Given the description of an element on the screen output the (x, y) to click on. 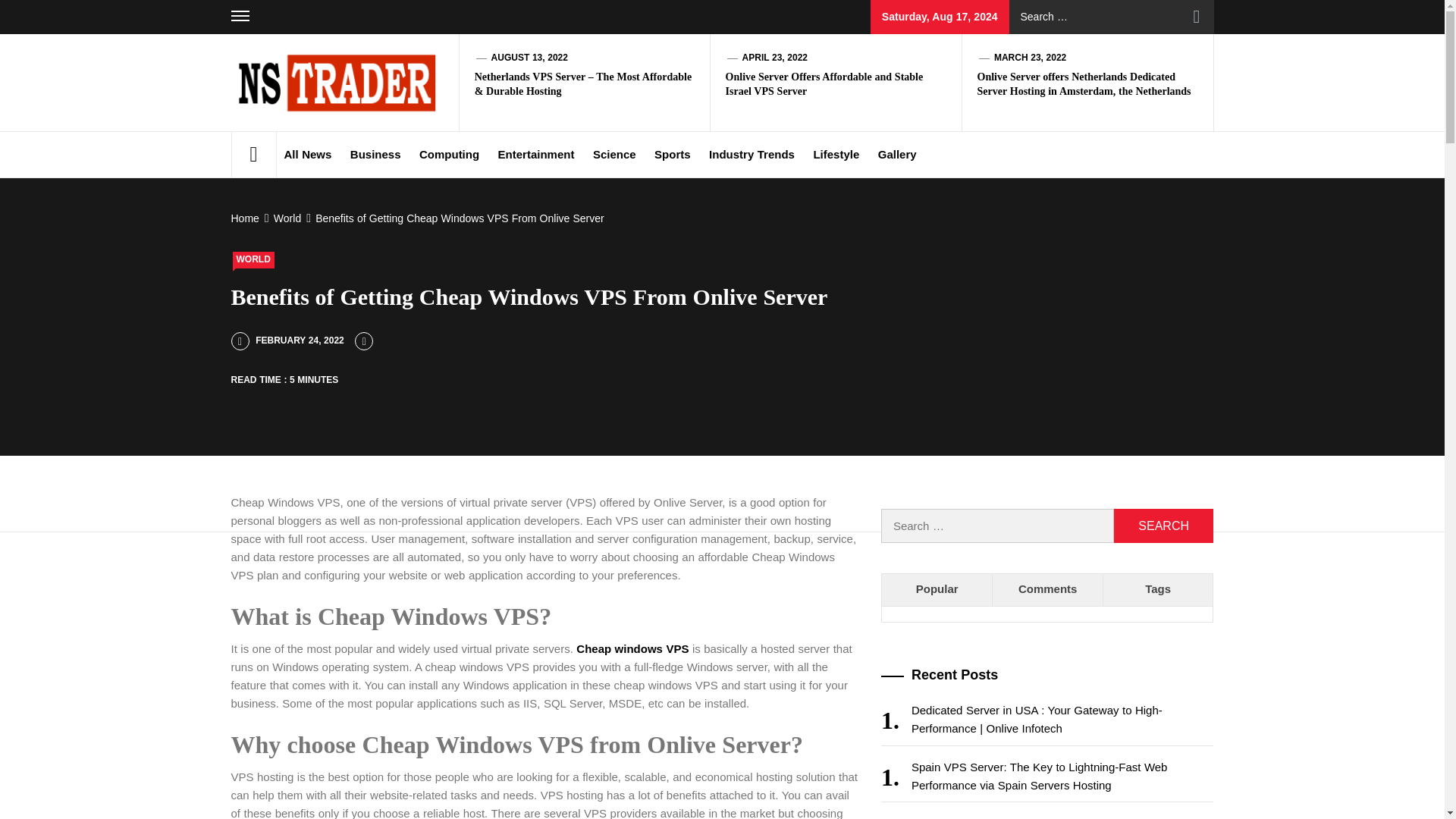
NS Traders (499, 86)
Search (1163, 525)
AUGUST 13, 2022 (529, 57)
Sports (672, 154)
Entertainment (536, 154)
Search (1196, 17)
Search (1163, 525)
APRIL 23, 2022 (775, 57)
Computing (449, 154)
